Given the description of an element on the screen output the (x, y) to click on. 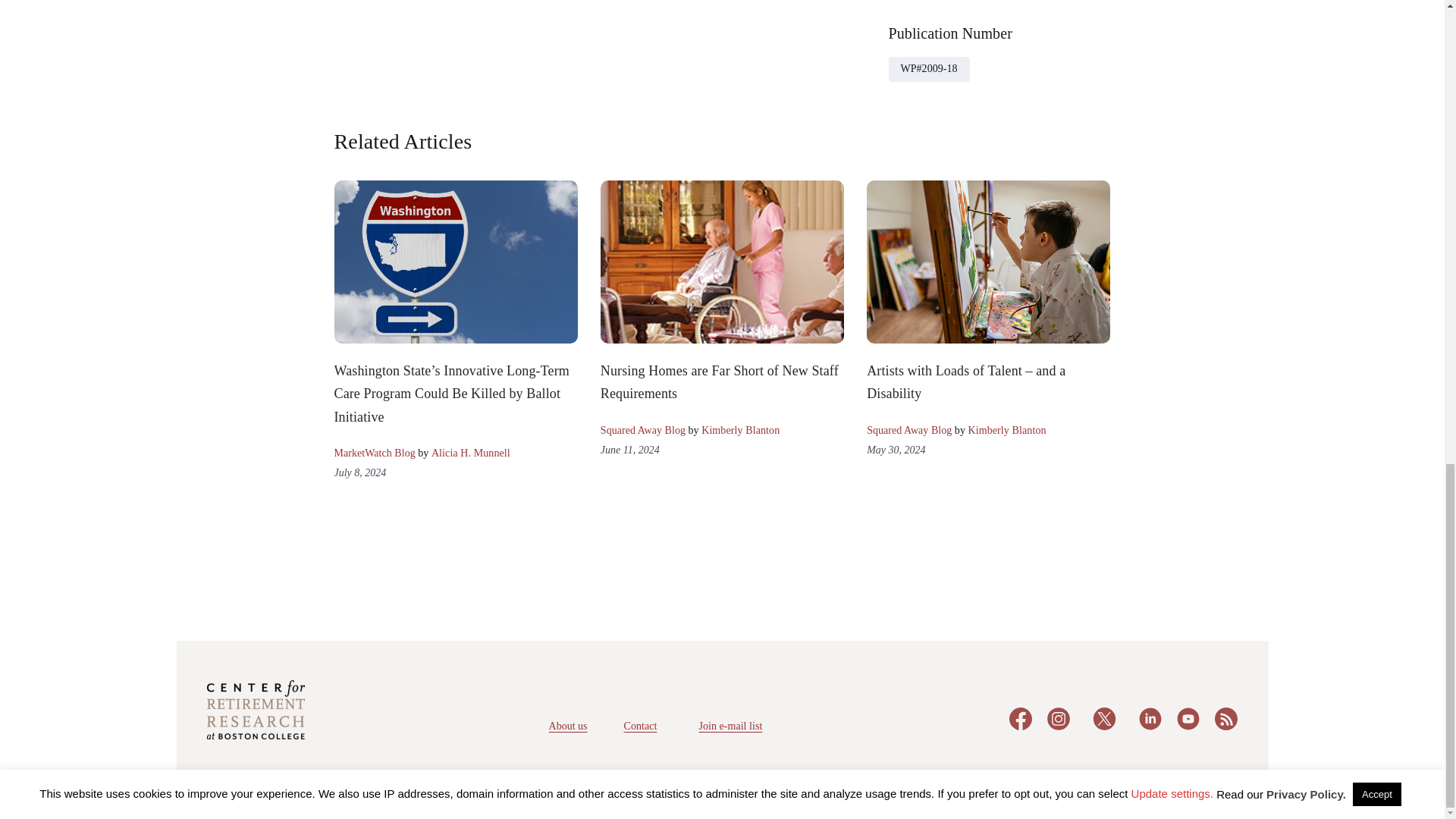
Squared Away Blog (642, 430)
Posts by Kimberly Blanton (1006, 430)
Posts by Alicia H. Munnell (470, 452)
Alicia H. Munnell (470, 452)
Posts by Kimberly Blanton (739, 430)
MarketWatch Blog (373, 452)
Nursing Homes are Far Short of New Staff Requirements (718, 382)
Squared Away Blog (909, 430)
Kimberly Blanton (739, 430)
